Given the description of an element on the screen output the (x, y) to click on. 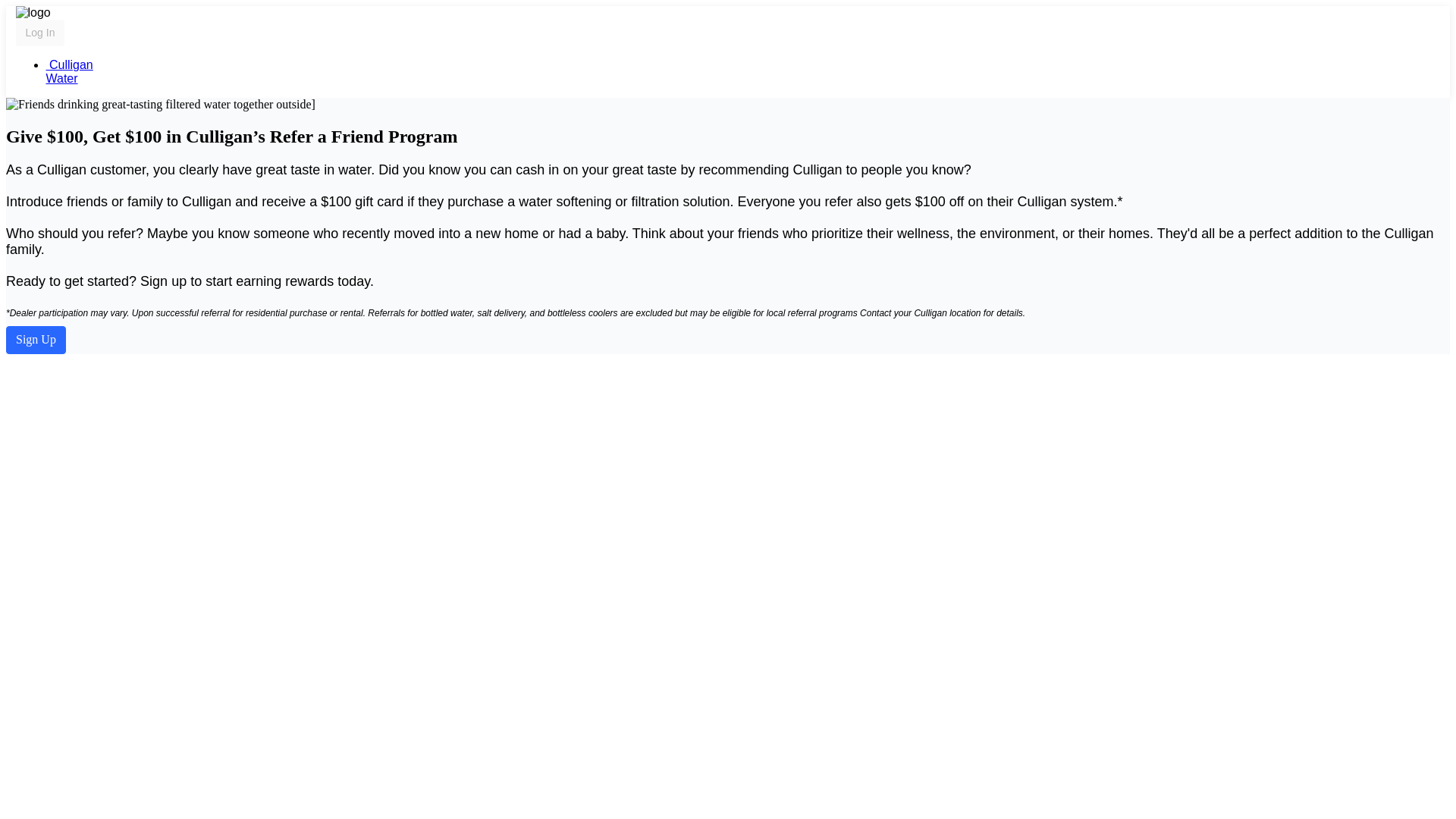
 Culligan Water (69, 71)
Log In (39, 32)
